Given the description of an element on the screen output the (x, y) to click on. 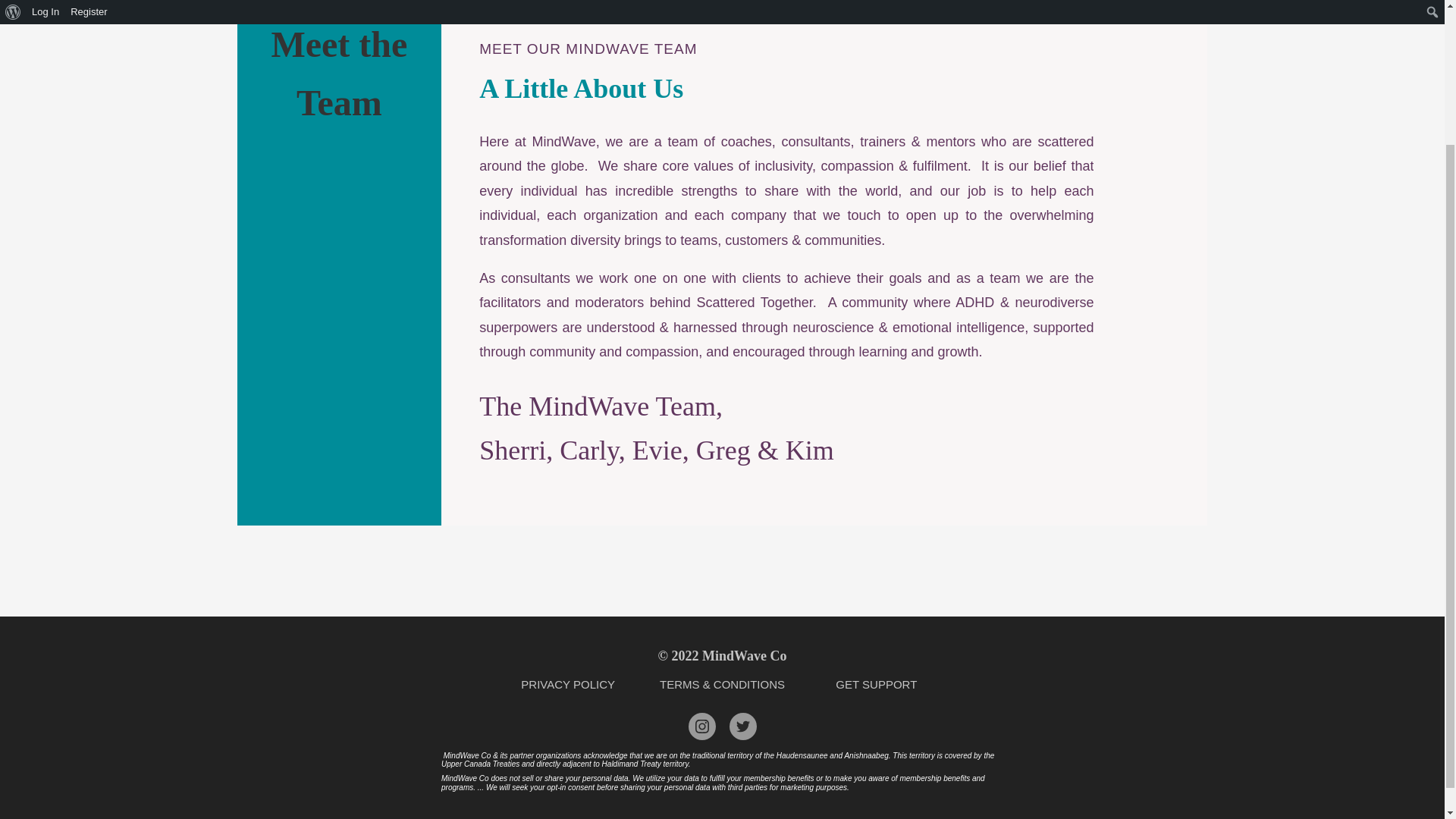
PRIVACY POLICY (567, 684)
GET SUPPORT (876, 684)
